Given the description of an element on the screen output the (x, y) to click on. 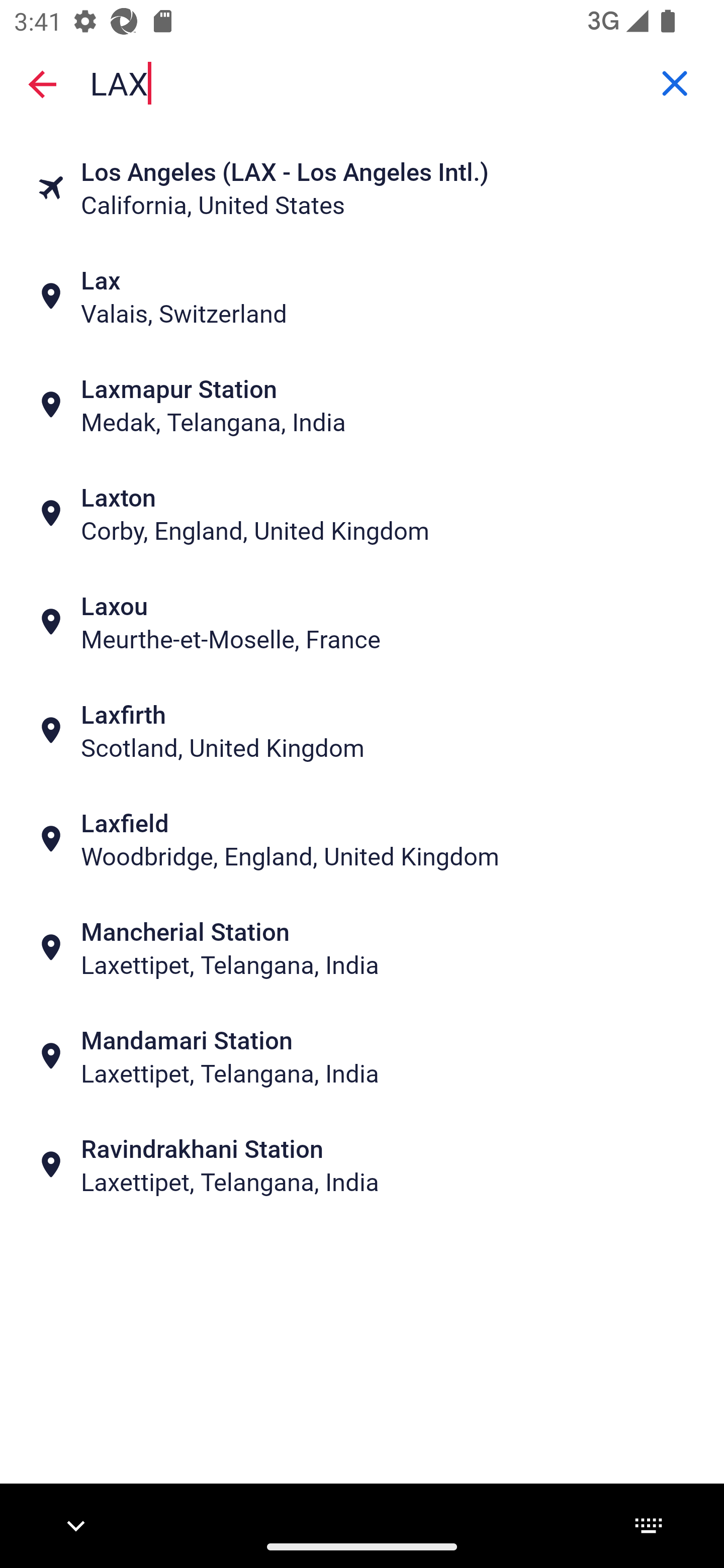
Clear Pick-up (674, 82)
Pick-up, LAX (361, 82)
Close search screen (41, 83)
